Given the description of an element on the screen output the (x, y) to click on. 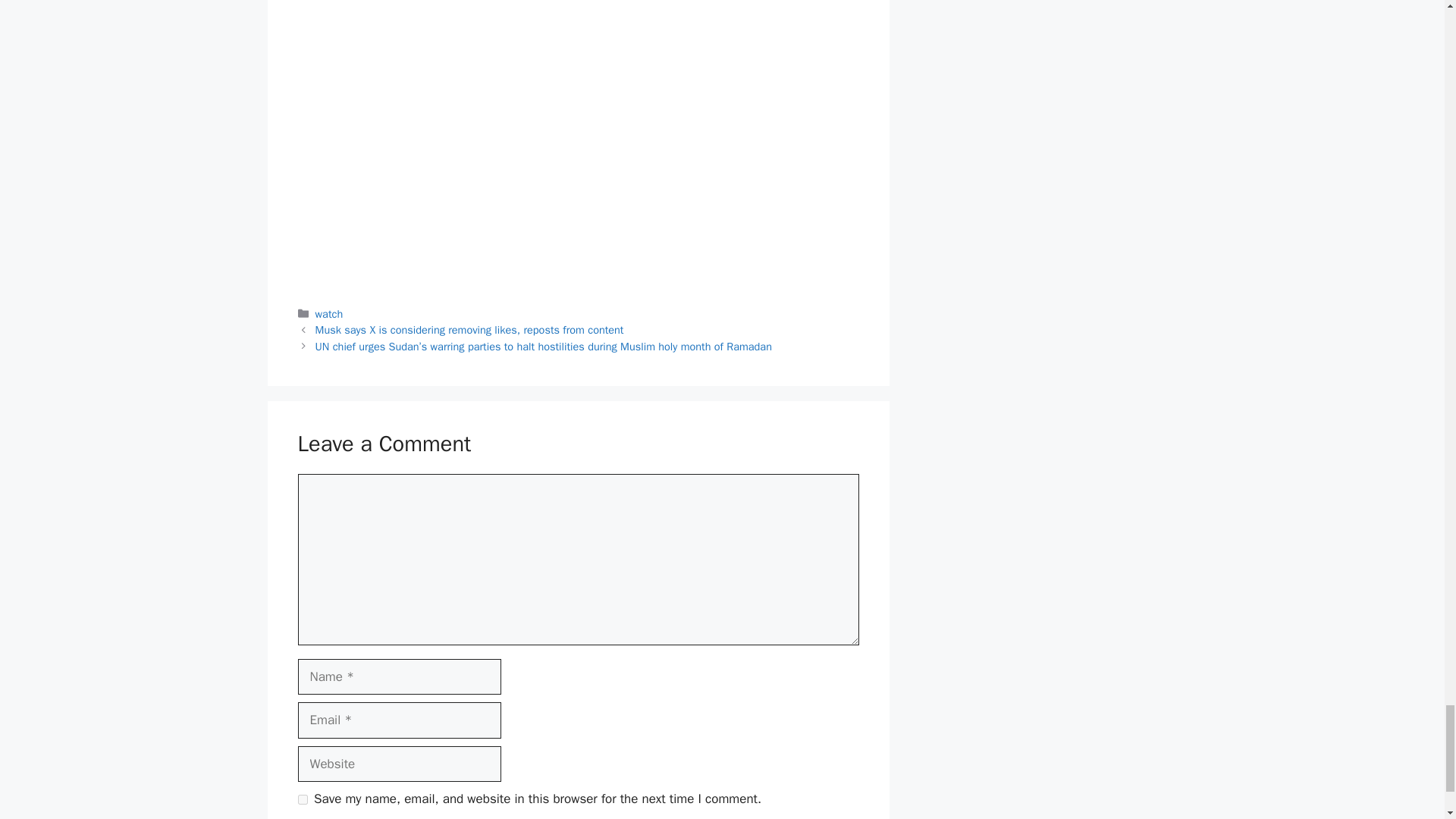
yes (302, 799)
watch (329, 314)
